Given the description of an element on the screen output the (x, y) to click on. 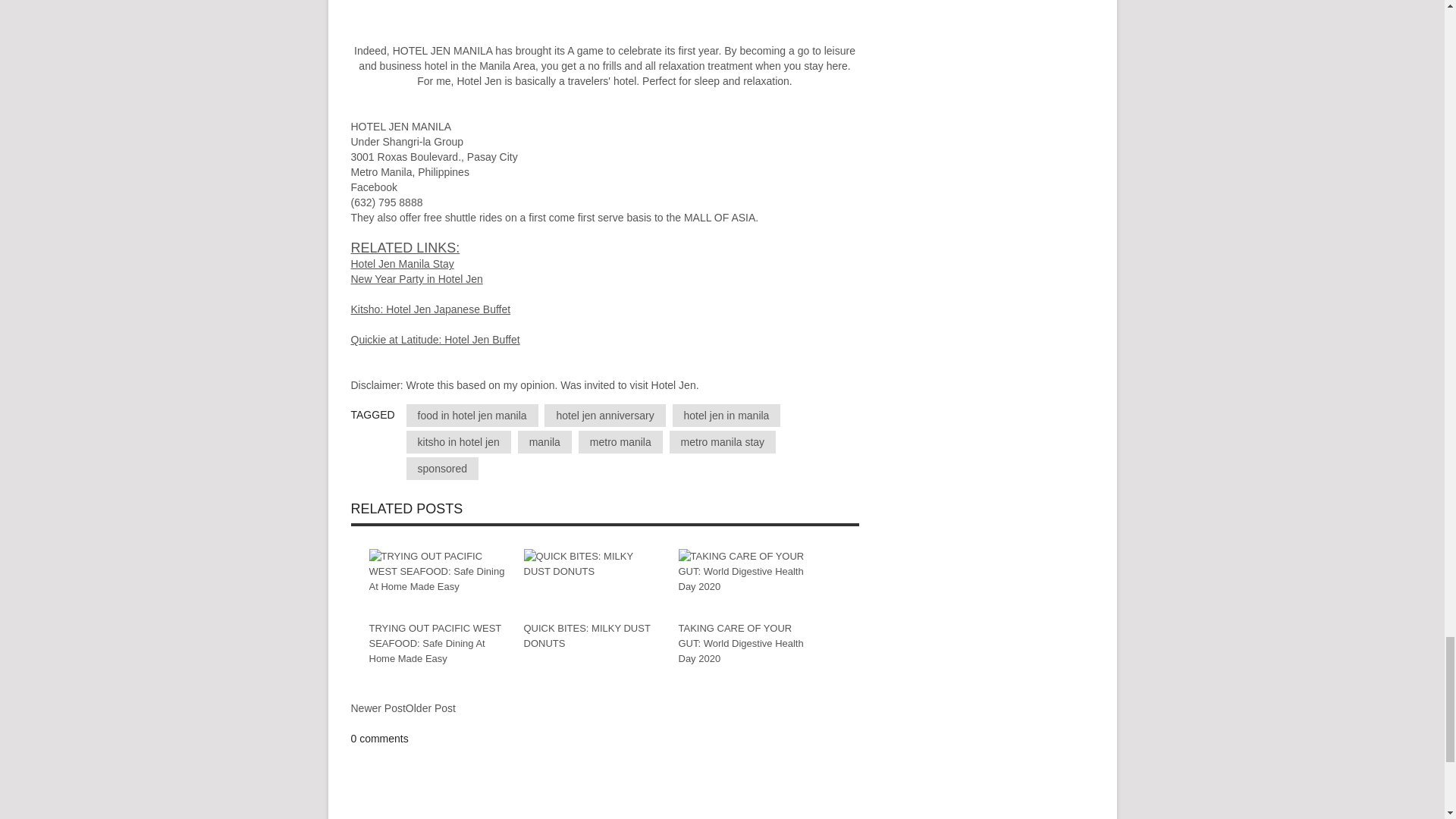
Newer Post (377, 708)
Older Post (430, 707)
